Given the description of an element on the screen output the (x, y) to click on. 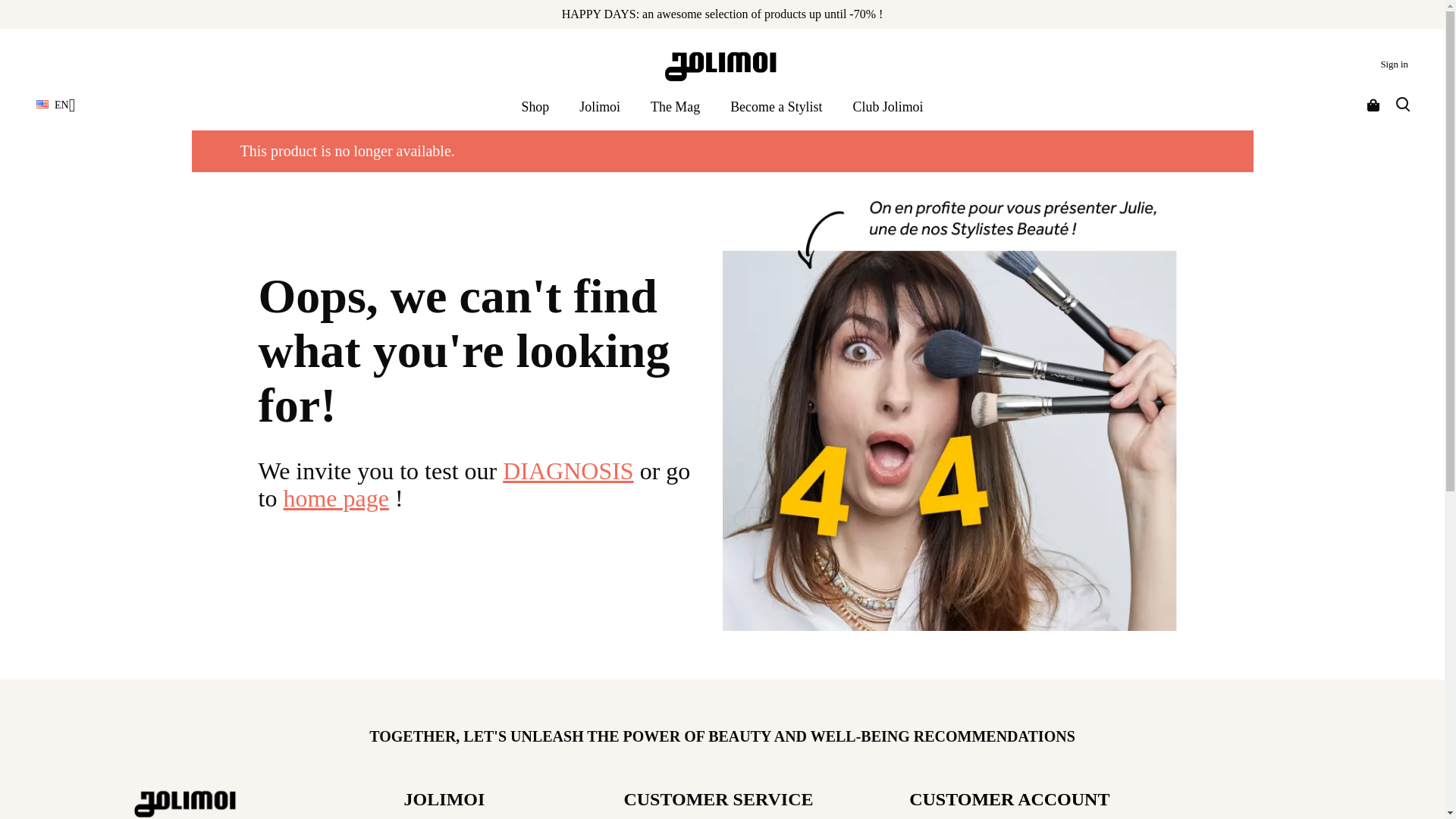
Shop (534, 106)
Log in to your customer account (1393, 64)
